Given the description of an element on the screen output the (x, y) to click on. 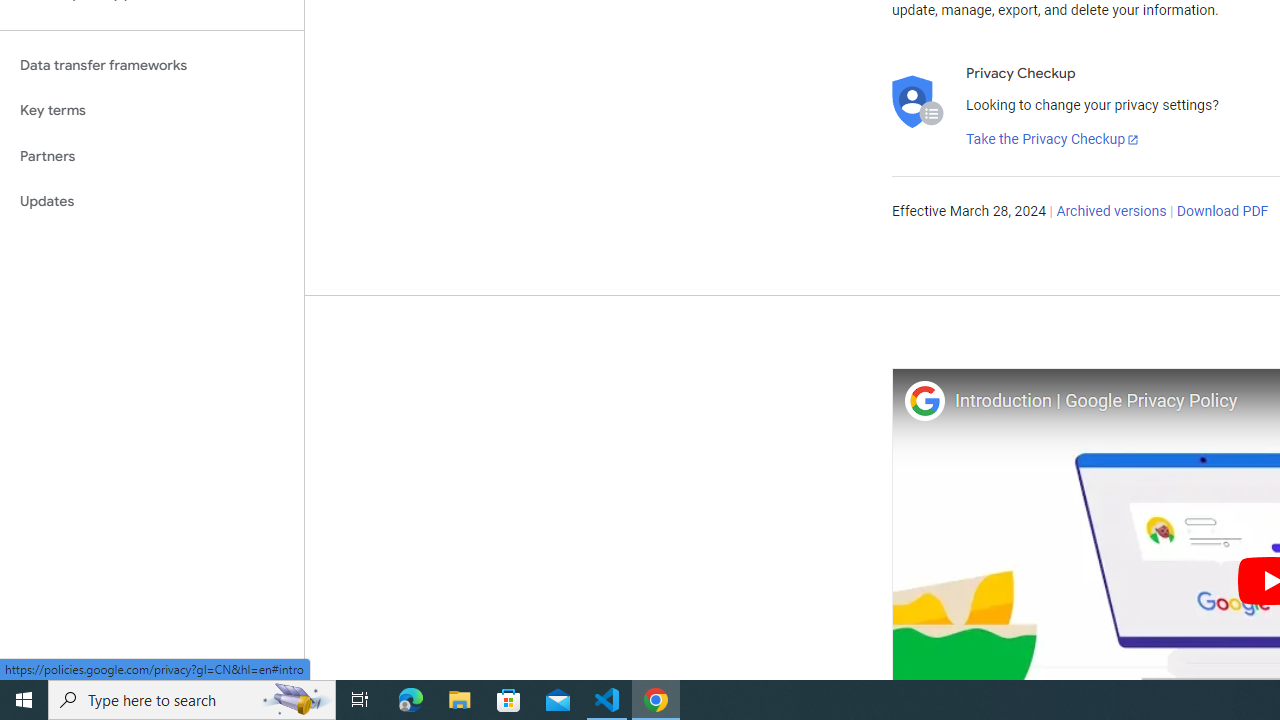
Partners (152, 156)
Updates (152, 201)
Download PDF (1222, 212)
Data transfer frameworks (152, 65)
Key terms (152, 110)
Take the Privacy Checkup (1053, 140)
Photo image of Google (924, 400)
Archived versions (1111, 212)
